Given the description of an element on the screen output the (x, y) to click on. 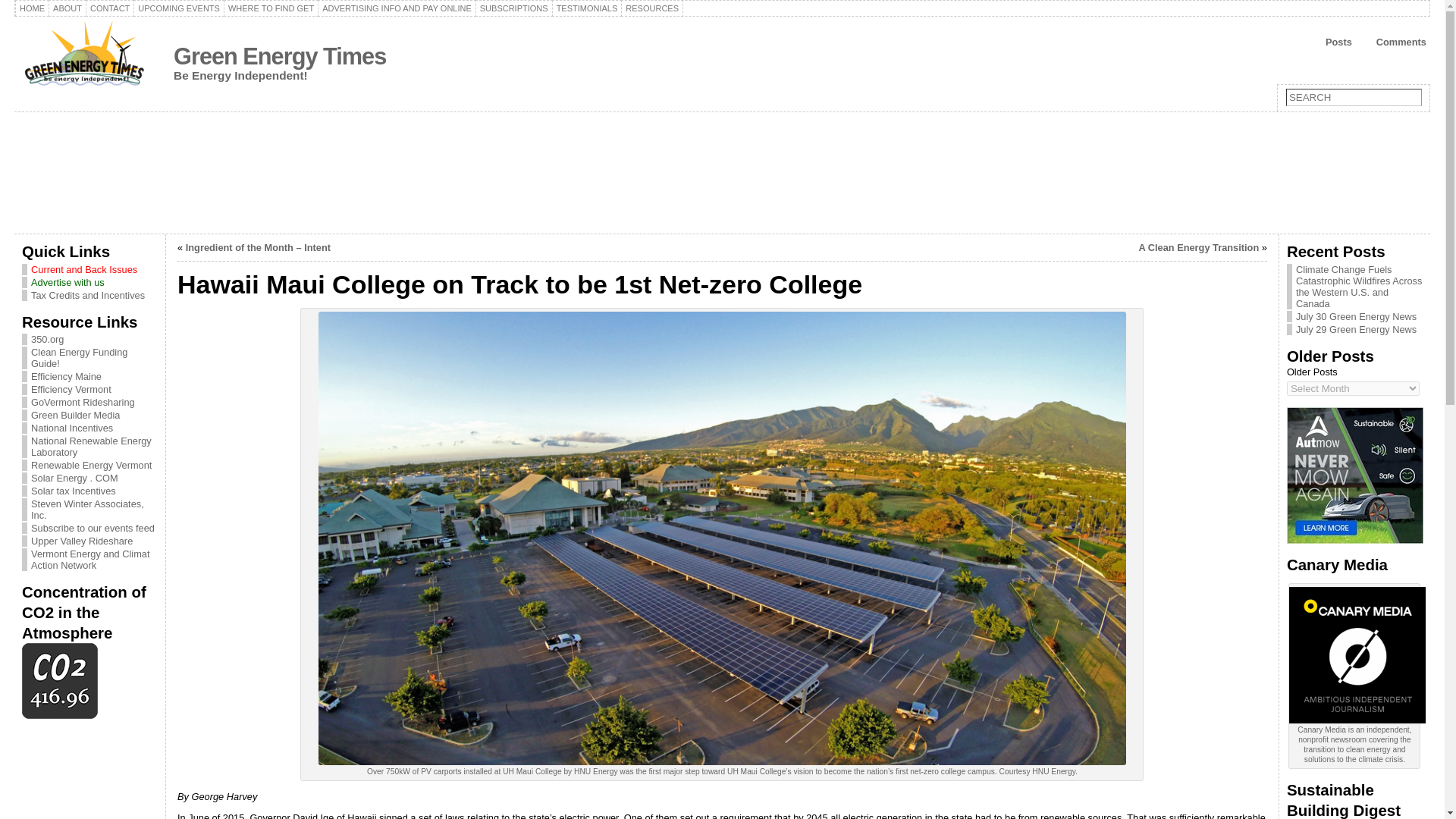
Advertise with us (89, 282)
Subscribe to the COMMENTS feed (1392, 42)
SEARCH (1353, 97)
WHERE TO FIND GET (271, 8)
ABOUT (66, 8)
350.org (47, 338)
CONTACT (109, 8)
SUBSCRIPTIONS (514, 8)
the authority on all things solar (73, 478)
Statewide provider of energy efficiency services. (71, 389)
Vermont Energy and Climat Action Network (89, 558)
Subscribe to our events feed (92, 527)
National Renewable Energy Laboratory (90, 445)
TESTIMONIALS (587, 8)
Posts (1331, 42)
